Given the description of an element on the screen output the (x, y) to click on. 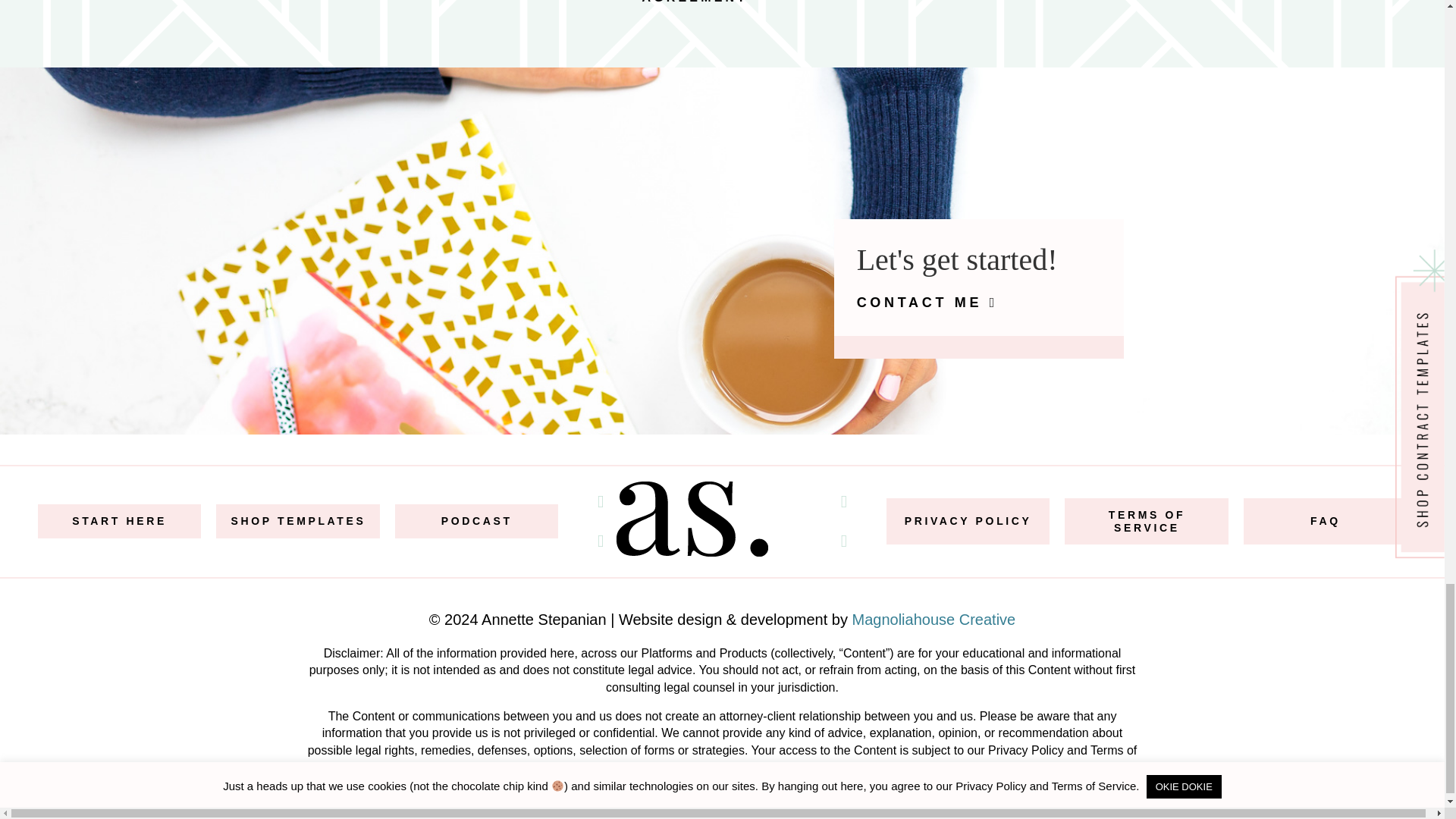
Let's get started! (957, 259)
SHOP TEMPLATES (297, 521)
PODCAST (476, 521)
START HERE (119, 521)
CONTACT ME (919, 302)
